Given the description of an element on the screen output the (x, y) to click on. 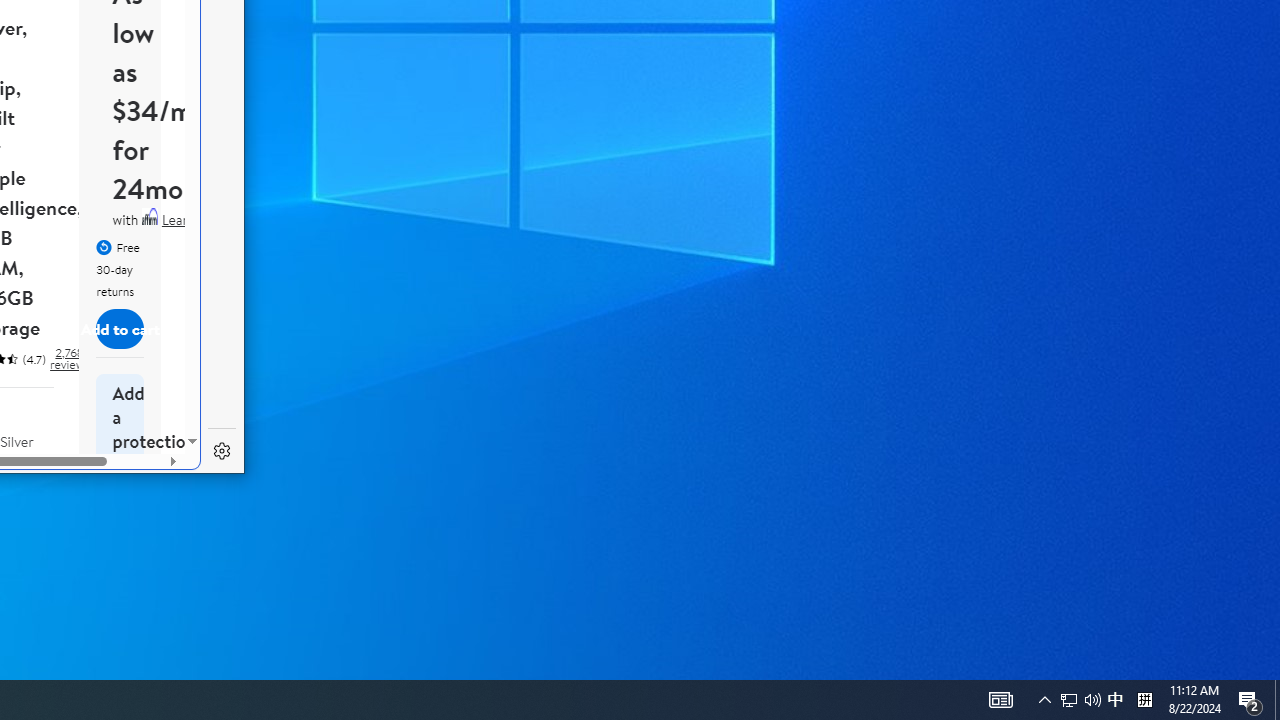
Silver selected, Silver, $649.00 (28, 498)
Tray Input Indicator - Chinese (Simplified, China) (1144, 699)
selected, Silver, $649.00 (28, 498)
Learn how (192, 220)
